Given the description of an element on the screen output the (x, y) to click on. 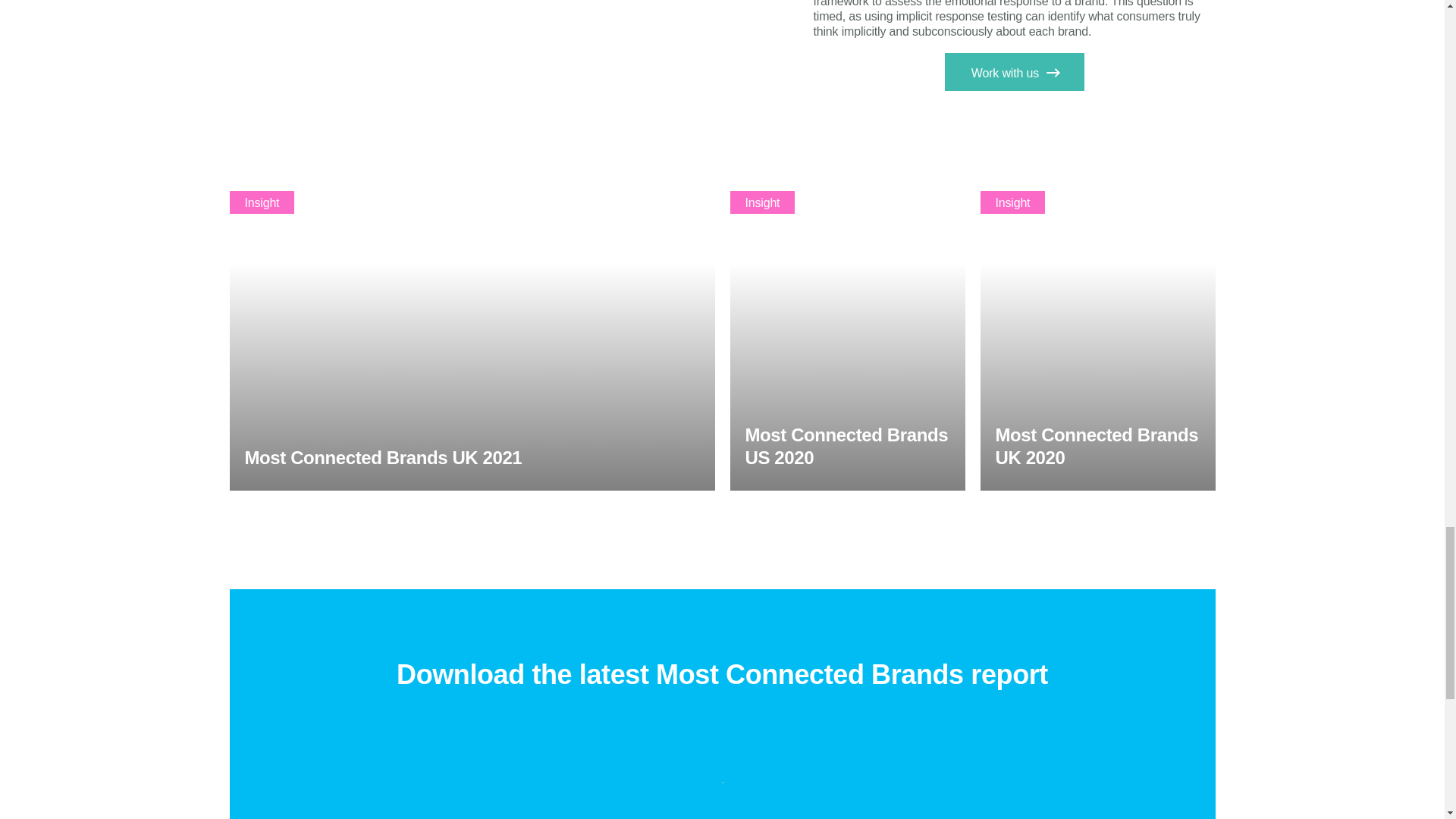
Insight (761, 201)
Insight (1012, 201)
Insight (261, 201)
